Given the description of an element on the screen output the (x, y) to click on. 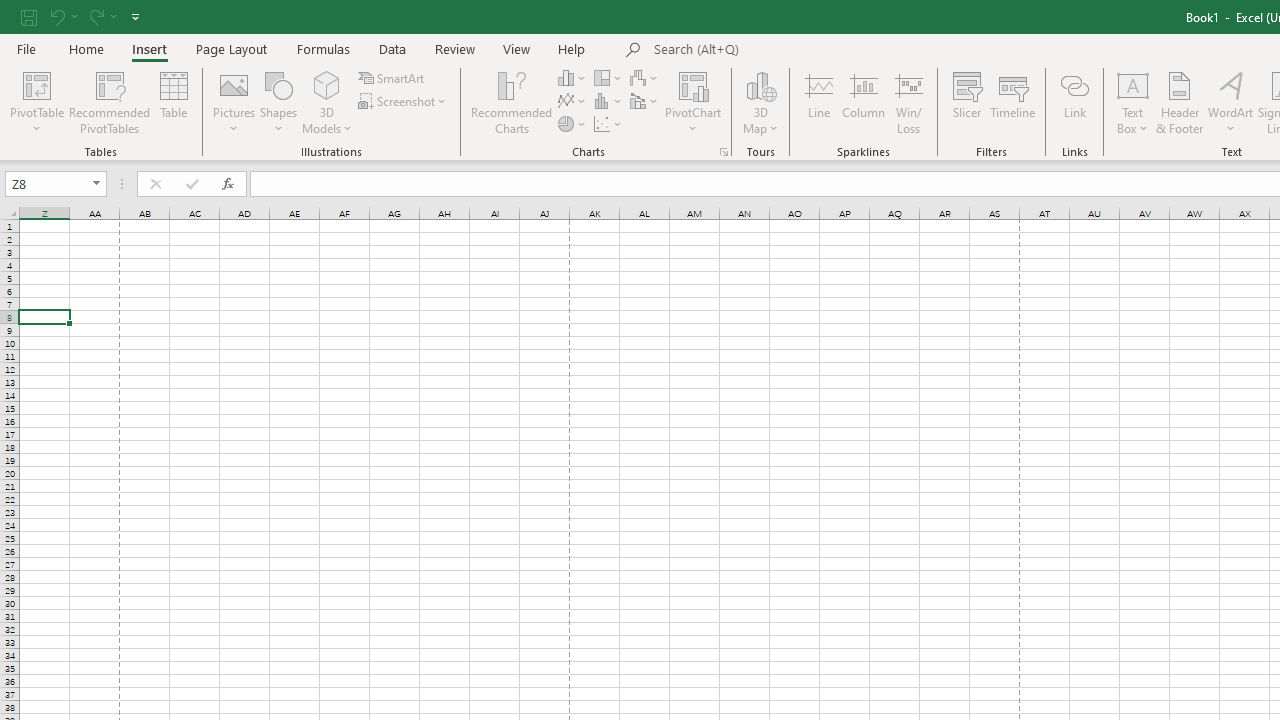
3D Models (326, 102)
Shapes (278, 102)
Text Box (1133, 102)
Draw Horizontal Text Box (1133, 84)
Insert Hierarchy Chart (609, 78)
3D Models (326, 84)
Link (1074, 102)
Timeline (1013, 102)
3D Map (760, 84)
Line (818, 102)
